Given the description of an element on the screen output the (x, y) to click on. 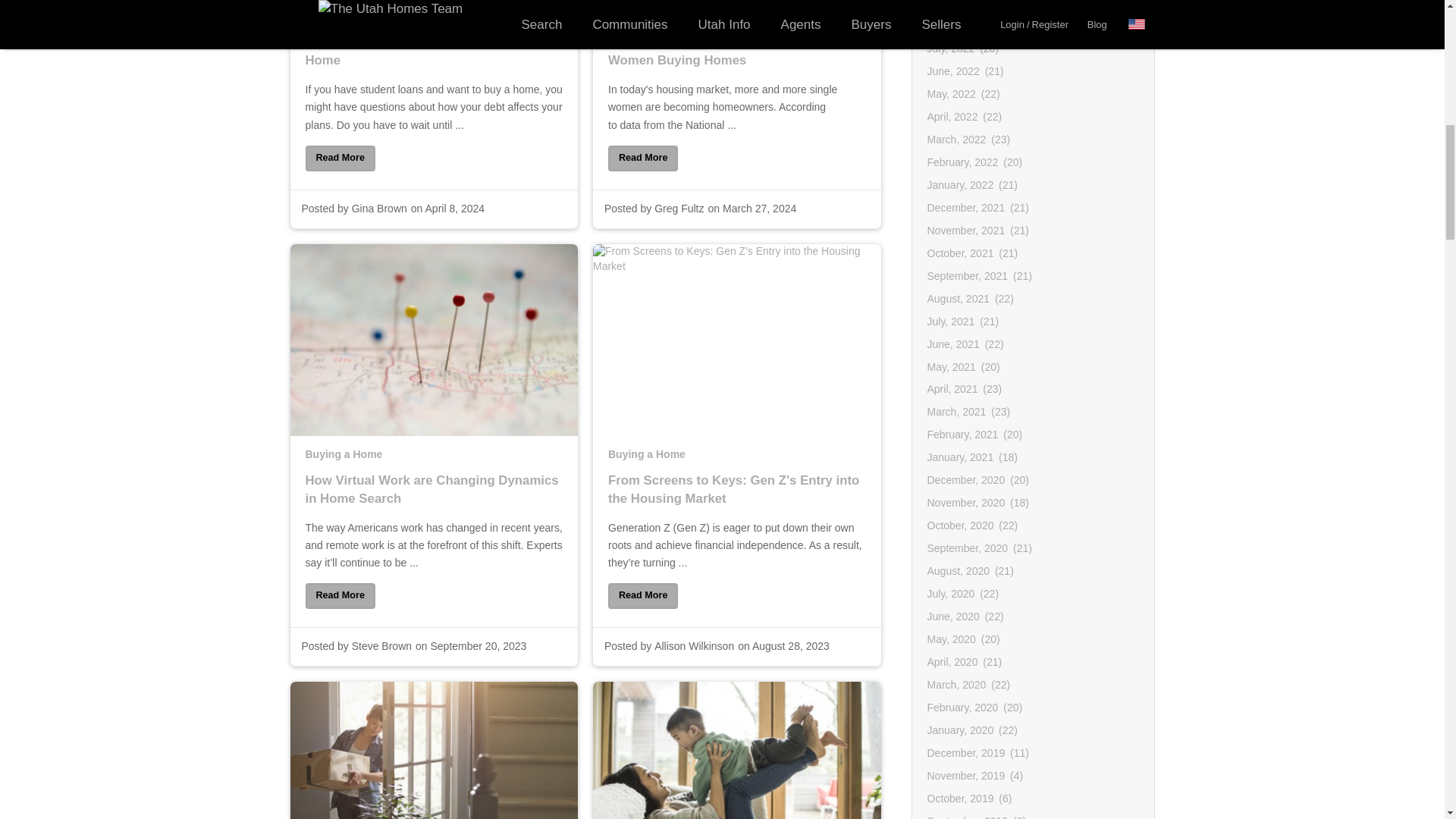
Overcoming Student Loans to Own Your Home (339, 158)
Claiming Their Space: The Surge of Single Women Buying Homes (737, 63)
Claiming Their Space: The Surge of Single Women Buying Homes (643, 158)
Overcoming Student Loans to Own Your Home (433, 63)
